Given the description of an element on the screen output the (x, y) to click on. 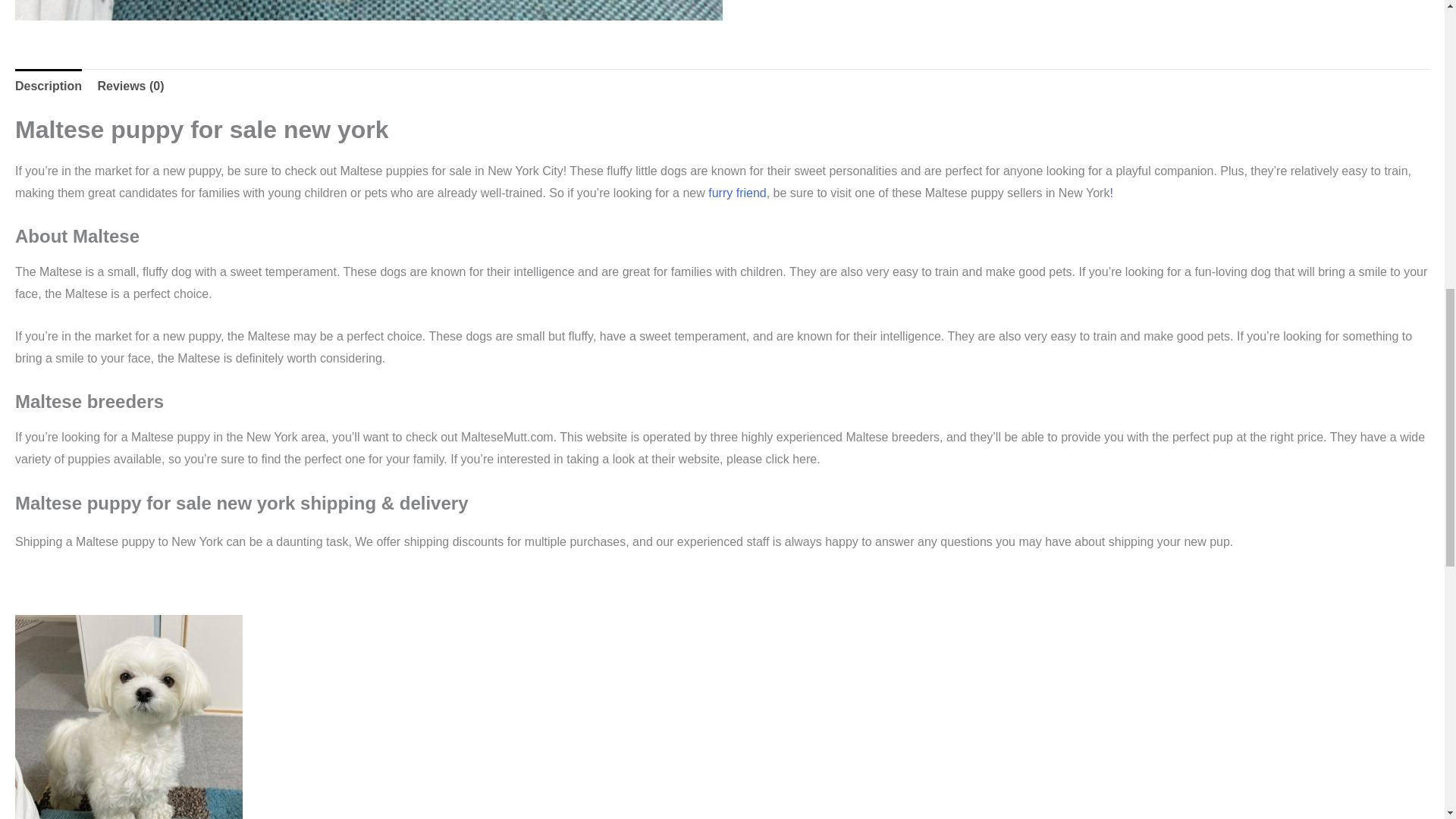
maltese puppy for sale new york (368, 10)
Description (47, 85)
maltese puppy for sale new york (128, 717)
furry friend (736, 192)
